Given the description of an element on the screen output the (x, y) to click on. 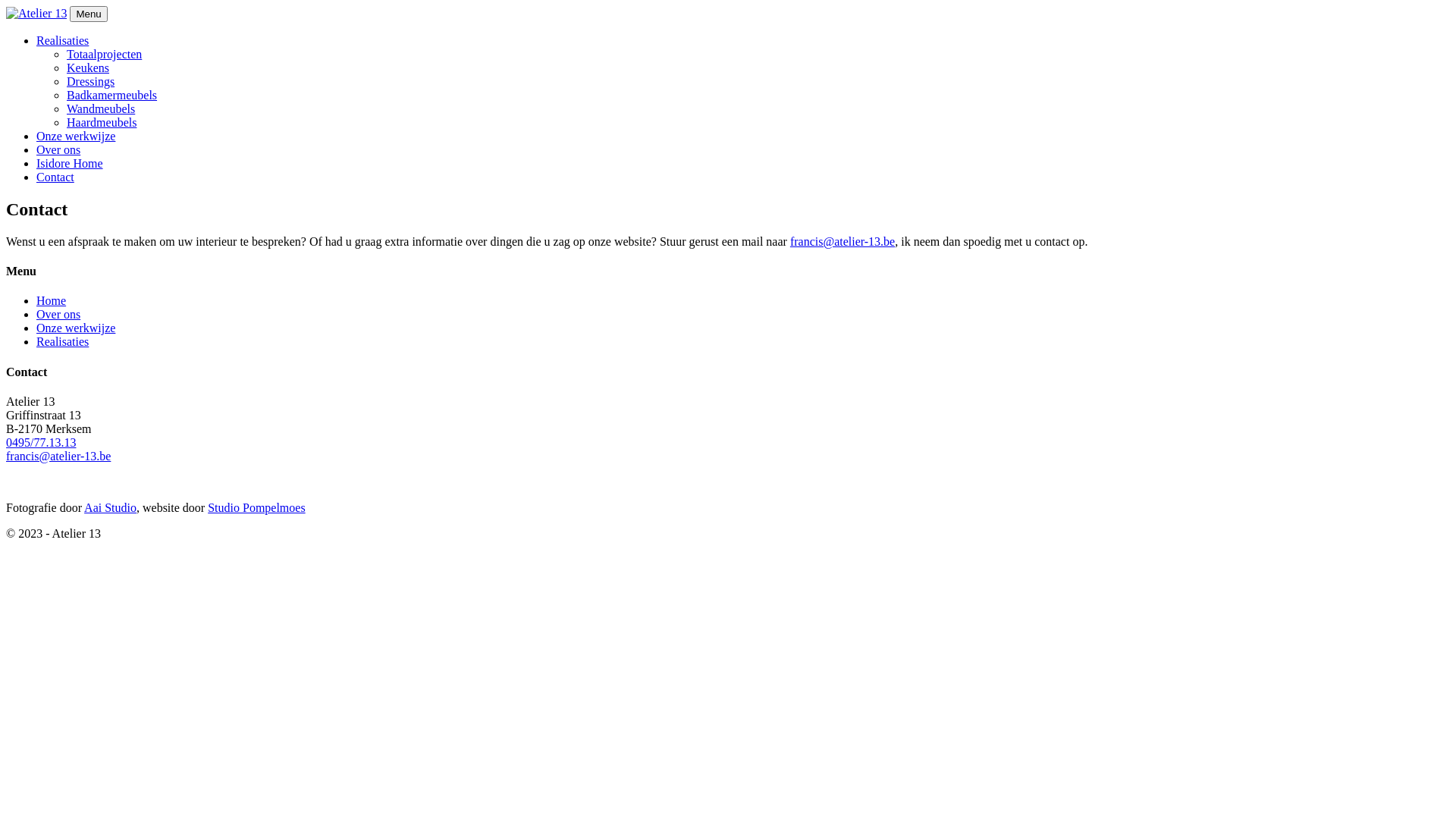
Contact Element type: text (55, 176)
0495/77.13.13 Element type: text (48, 449)
Aai Studio Element type: text (110, 507)
Over ons Element type: text (58, 149)
Dressings Element type: text (90, 81)
Studio Pompelmoes Element type: text (255, 507)
francis@atelier-13.be Element type: text (58, 462)
Haardmeubels Element type: text (101, 122)
Keukens Element type: text (87, 67)
Wandmeubels Element type: text (100, 108)
Badkamermeubels Element type: text (111, 94)
Onze werkwijze Element type: text (75, 135)
Over ons Element type: text (58, 313)
Home Element type: text (50, 300)
Isidore Home Element type: text (69, 162)
Menu Element type: text (87, 13)
Totaalprojecten Element type: text (103, 53)
francis@atelier-13.be Element type: text (842, 241)
Realisaties Element type: text (62, 341)
Onze werkwijze Element type: text (75, 327)
Realisaties Element type: text (62, 40)
